Given the description of an element on the screen output the (x, y) to click on. 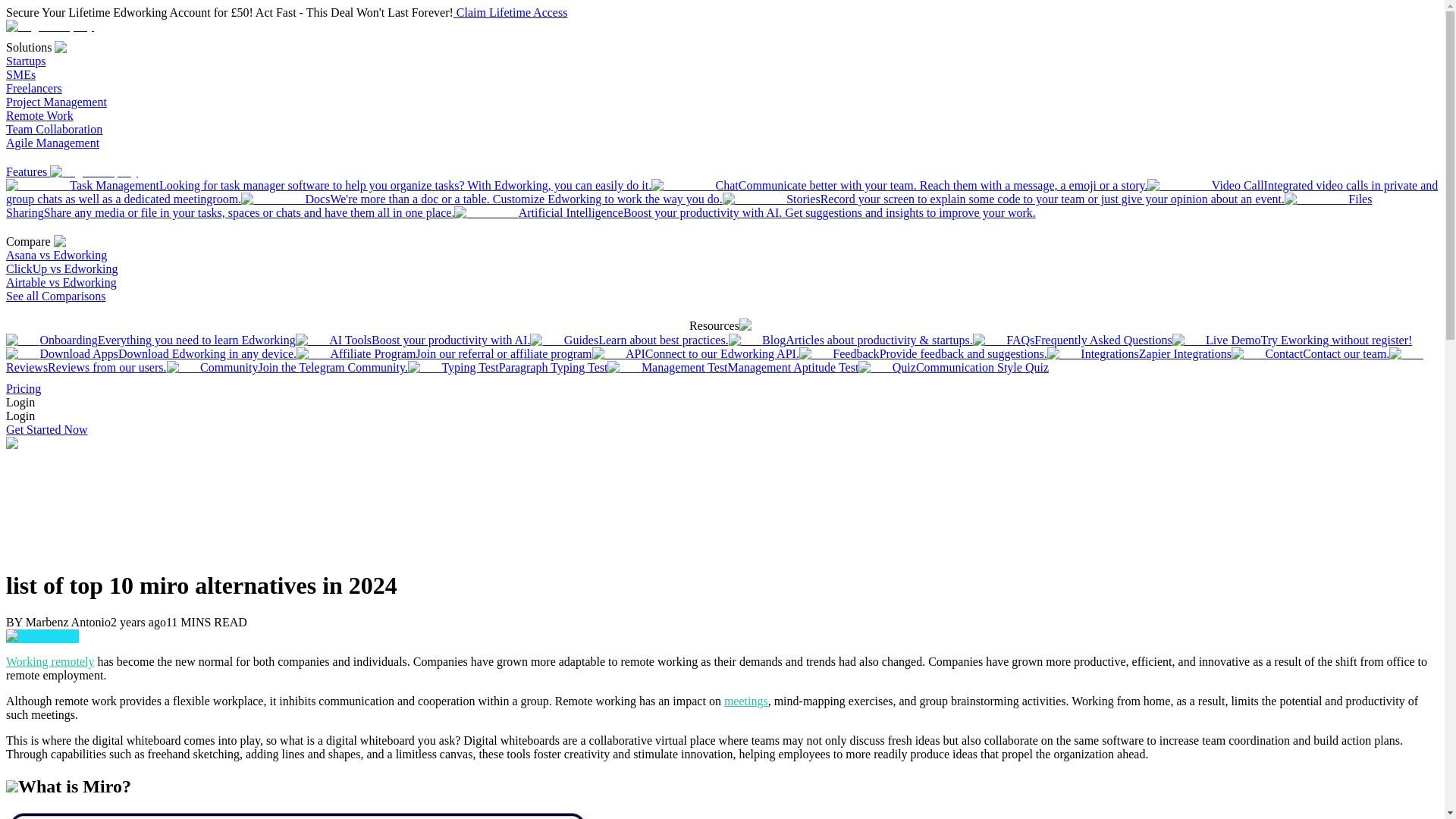
Typing TestParagraph Typing Test (507, 367)
ReviewsReviews from our users. (714, 360)
ContactContact our team. (1310, 353)
FeedbackProvide feedback and suggestions. (922, 353)
Affiliate ProgramJoin our referral or affiliate program (444, 353)
Live DemoTry Eworking without register! (1292, 339)
APIConnect to our Edworking API. (695, 353)
Management TestManagement Aptitude Test (733, 367)
CommunityJoin the Telegram Community. (287, 367)
 Claim Lifetime Access (509, 12)
